Given the description of an element on the screen output the (x, y) to click on. 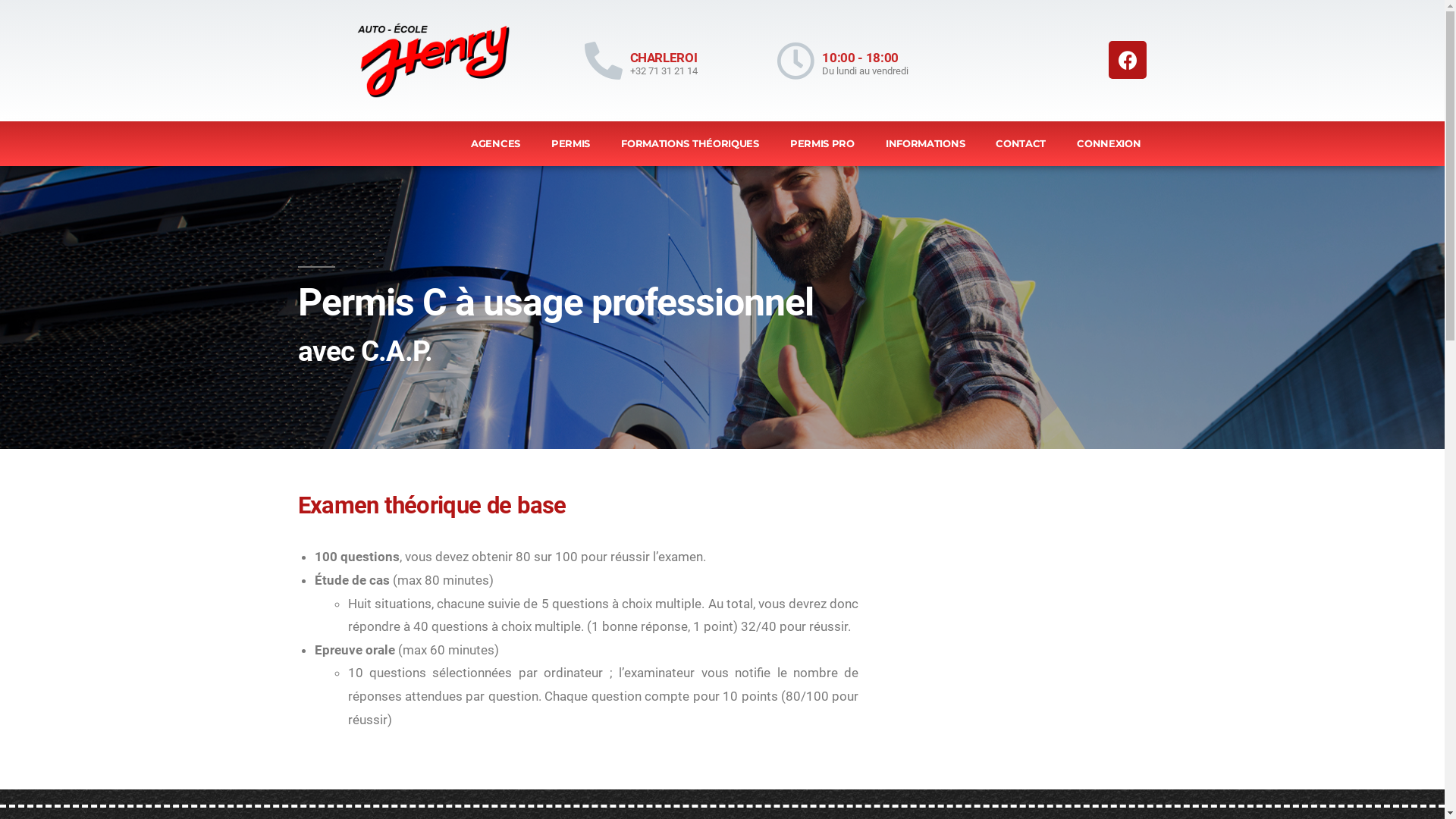
AGENCES Element type: text (495, 143)
PERMIS Element type: text (570, 143)
CONNEXION Element type: text (1108, 143)
CONTACT Element type: text (1020, 143)
PERMIS PRO Element type: text (822, 143)
CHARLEROI Element type: text (662, 57)
INFORMATIONS Element type: text (925, 143)
